Given the description of an element on the screen output the (x, y) to click on. 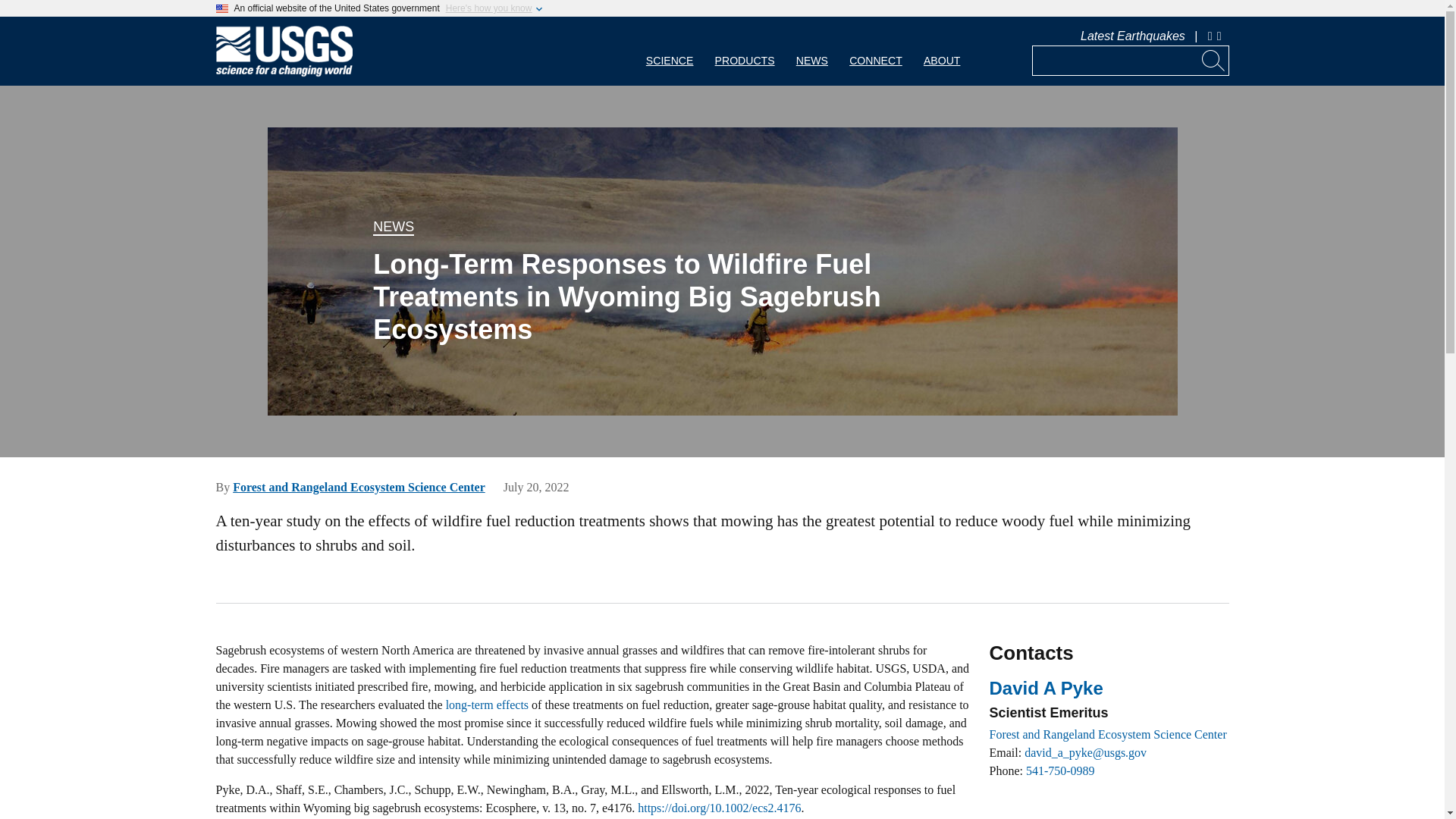
long-term effects (486, 704)
Share Social Media (1220, 36)
SCIENCE (669, 50)
Latest Earthquakes (1132, 35)
NEWS (392, 227)
PRODUCTS (745, 50)
NEWS (812, 50)
Forest and Rangeland Ecosystem Science Center (358, 486)
Live WebChat (1210, 35)
Here's how you know (488, 8)
CONNECT (875, 50)
ABOUT (941, 50)
Home (283, 72)
